Given the description of an element on the screen output the (x, y) to click on. 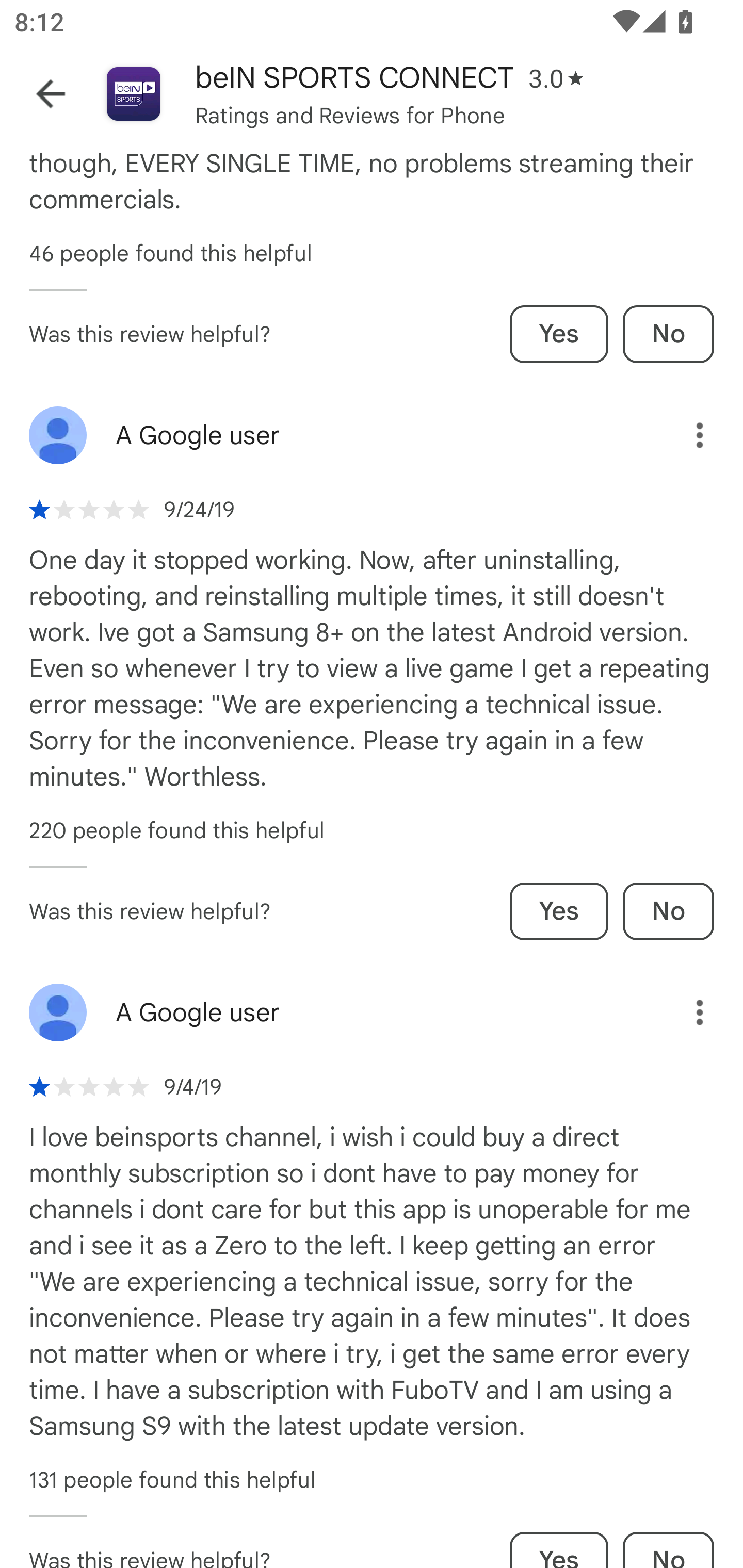
Navigate up (50, 93)
Yes (558, 334)
No (668, 334)
Options (685, 435)
Yes (558, 911)
No (668, 911)
Options (685, 1012)
